Given the description of an element on the screen output the (x, y) to click on. 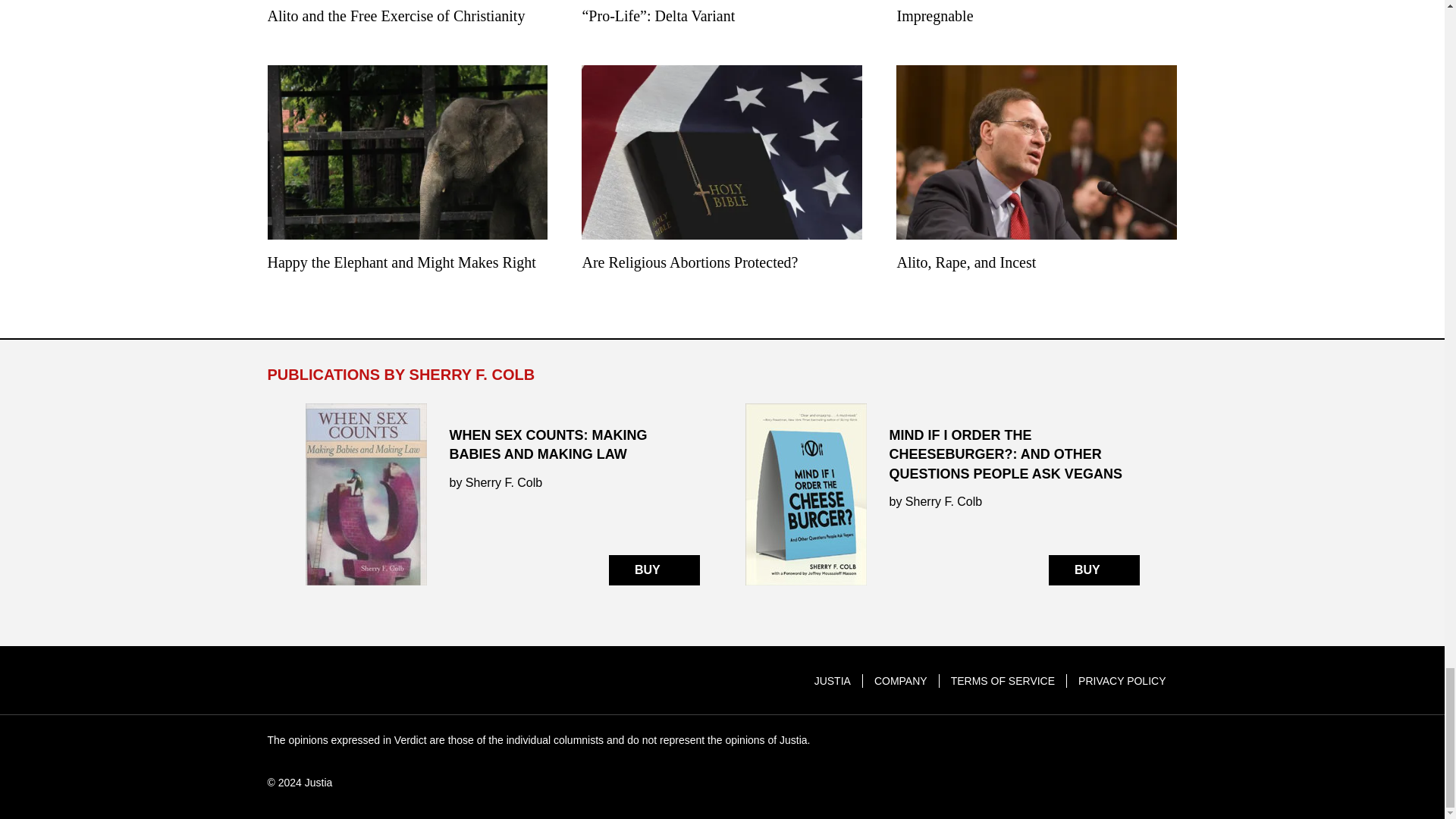
Are Religious Abortions Protected? (720, 171)
SHERRY F. COLB (472, 374)
Alito, Rape, and Incest (1036, 171)
Alito and the Free Exercise of Christianity (406, 24)
Happy the Elephant and Might Makes Right (406, 171)
Justia (323, 681)
When Sex Counts: Making Babies and Making Law (501, 494)
Impregnable (1036, 24)
